Given the description of an element on the screen output the (x, y) to click on. 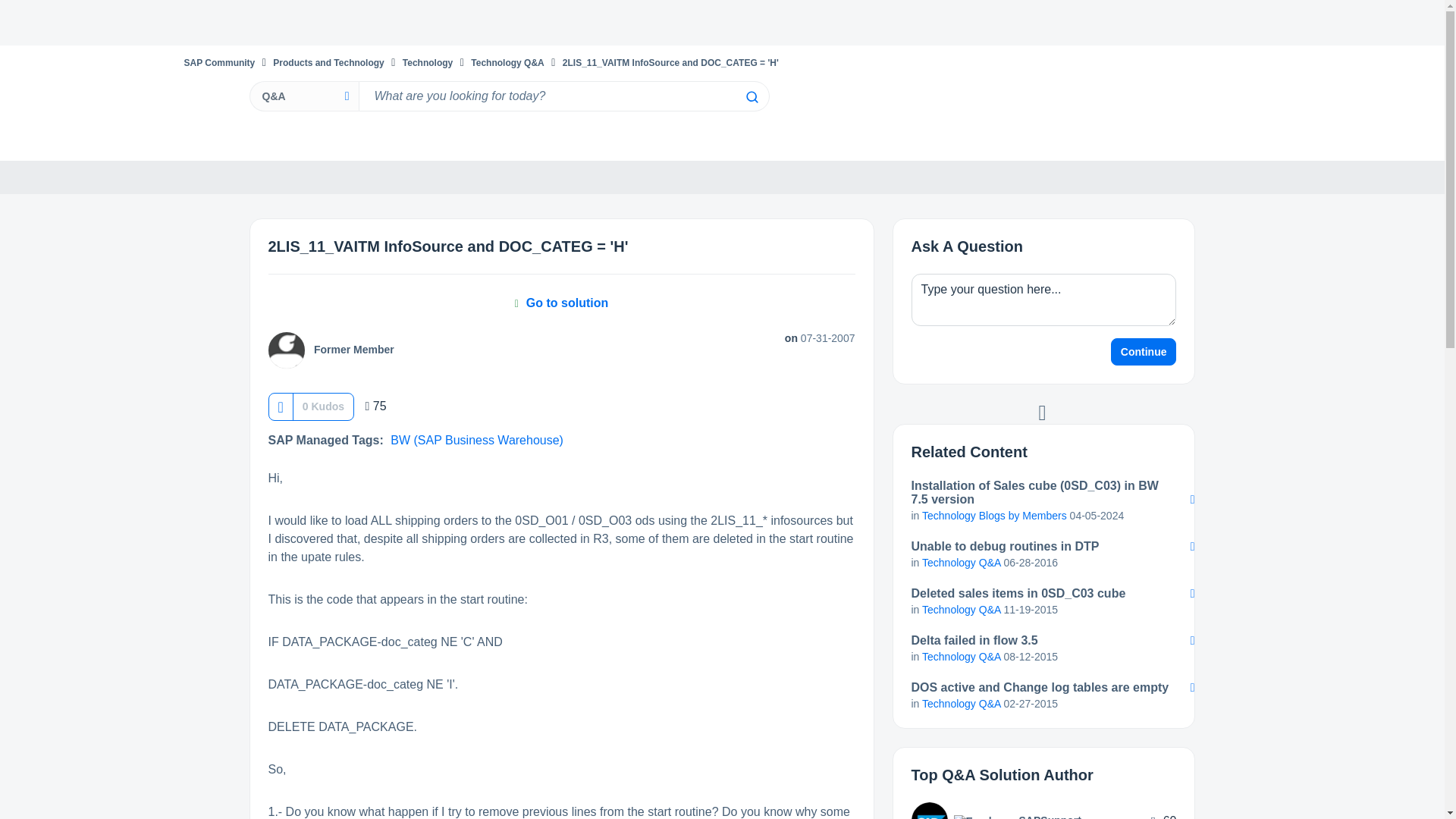
Search (563, 96)
Click here to give kudos to this post. (279, 406)
Search Granularity (303, 96)
The total number of kudos this post has received. (323, 406)
Technology (427, 62)
Go to solution (561, 302)
Search (750, 96)
Continue (1143, 351)
Search (750, 96)
SAP Community (218, 62)
